Given the description of an element on the screen output the (x, y) to click on. 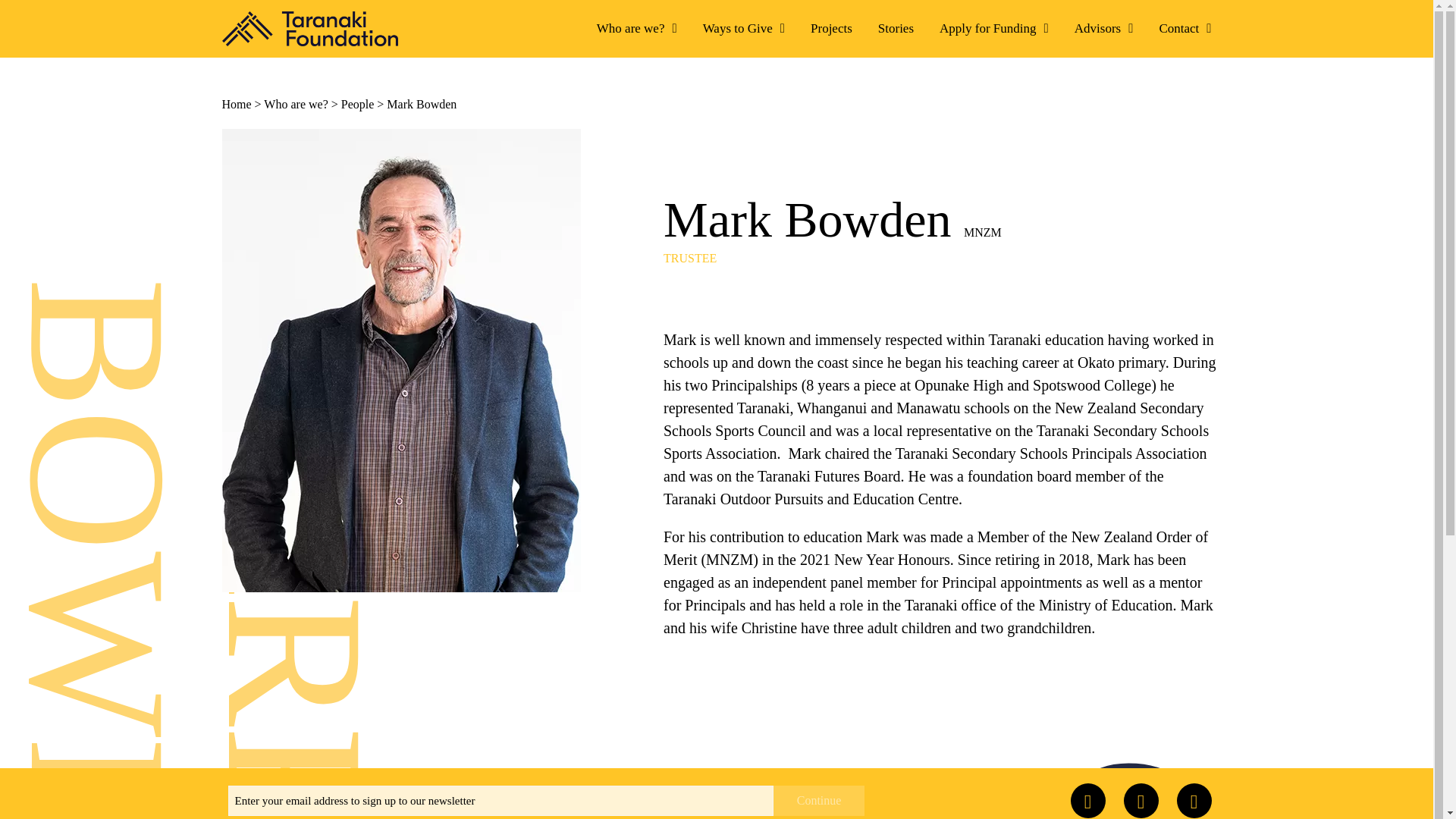
Ways to Give (743, 33)
Who are we? (636, 33)
Continue (818, 800)
